Given the description of an element on the screen output the (x, y) to click on. 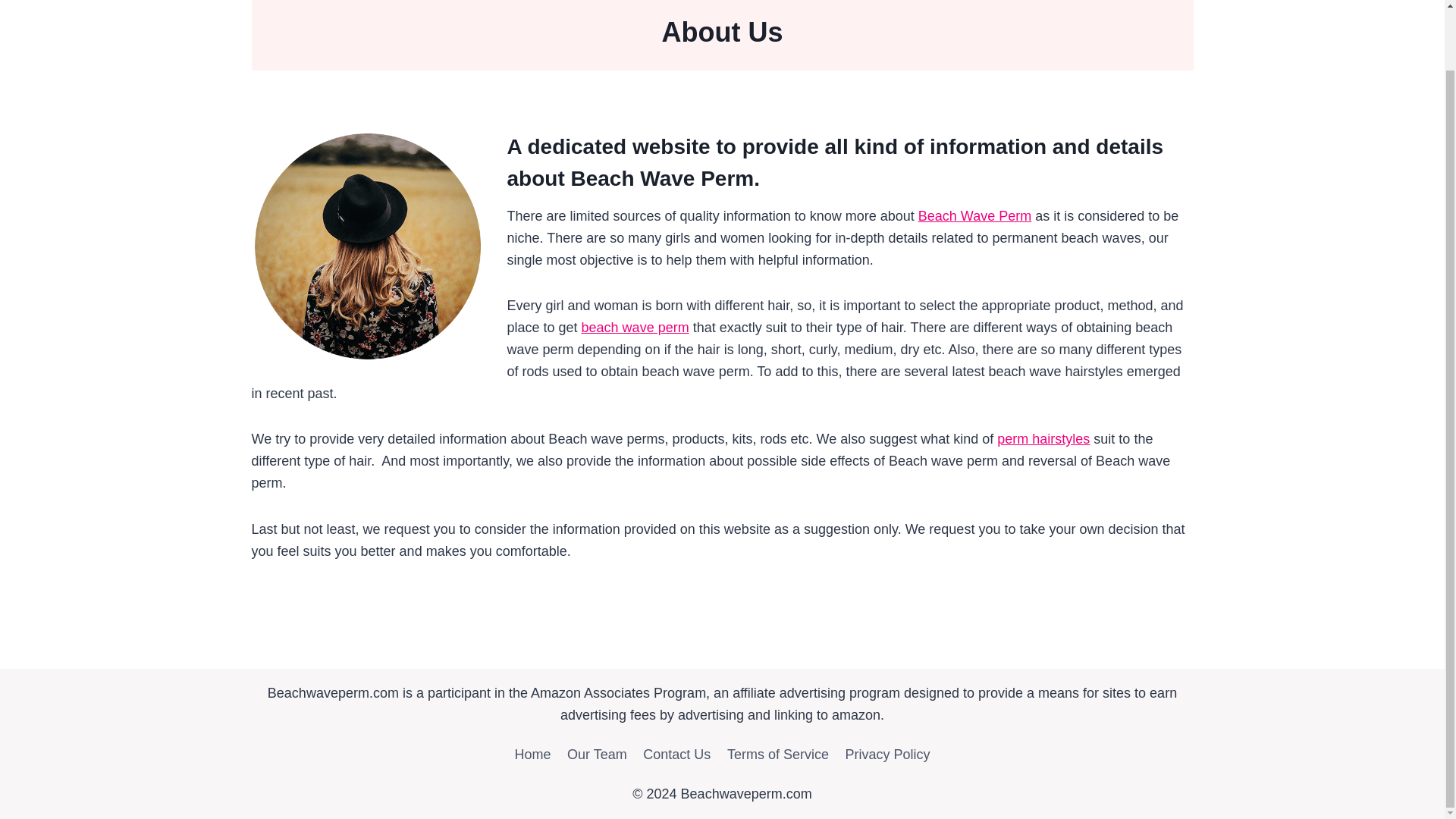
beach wave perm (634, 327)
Contact Us (676, 755)
Beach Wave Perm (974, 215)
perm hairstyles (1043, 438)
Beach Wave Perms - A Complete Guide (634, 327)
Privacy Policy (888, 755)
Our Team (596, 755)
perm rod hair styles (1043, 438)
Terms of Service (778, 755)
Home (532, 755)
